Given the description of an element on the screen output the (x, y) to click on. 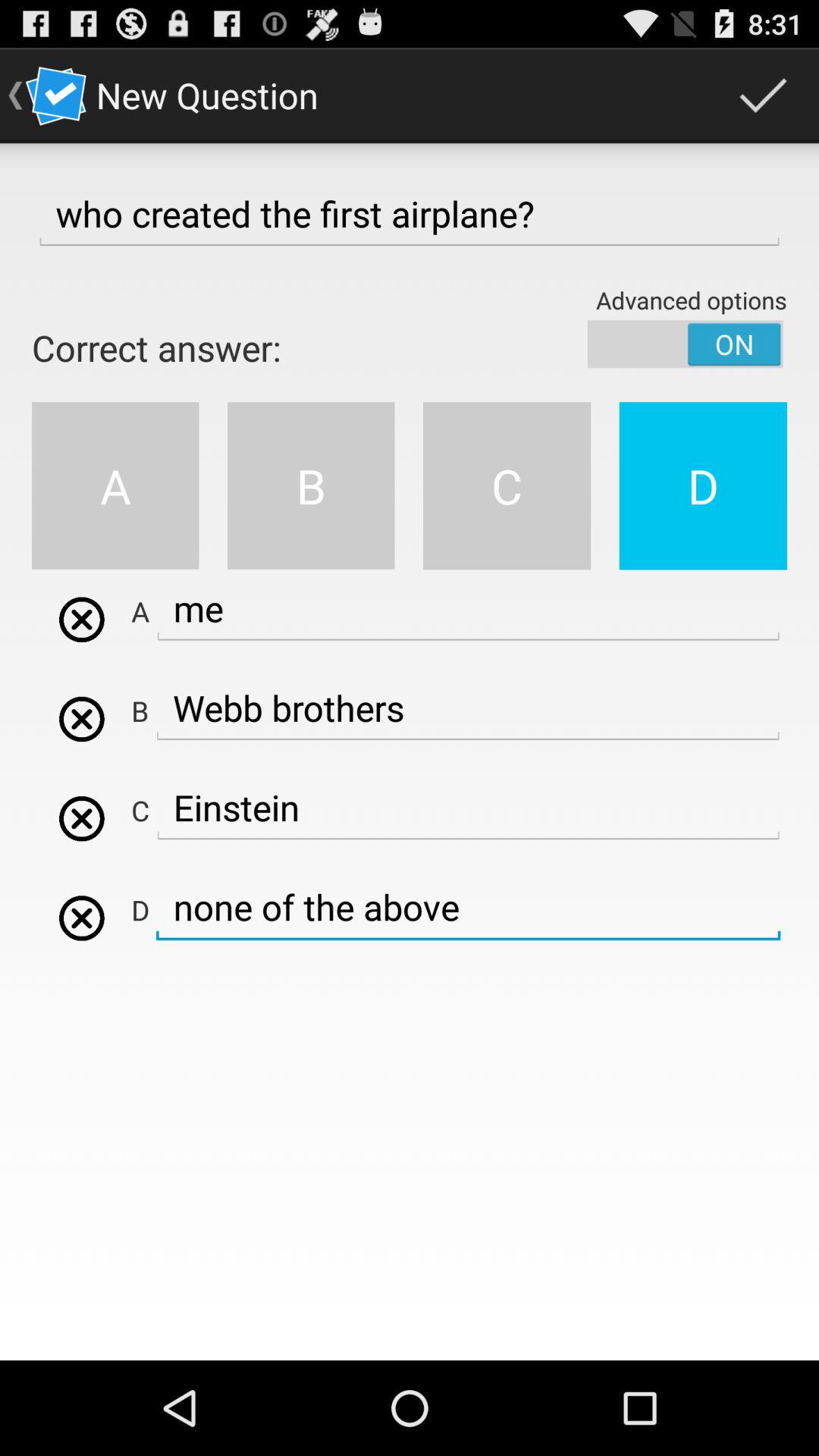
choose d (81, 918)
